Given the description of an element on the screen output the (x, y) to click on. 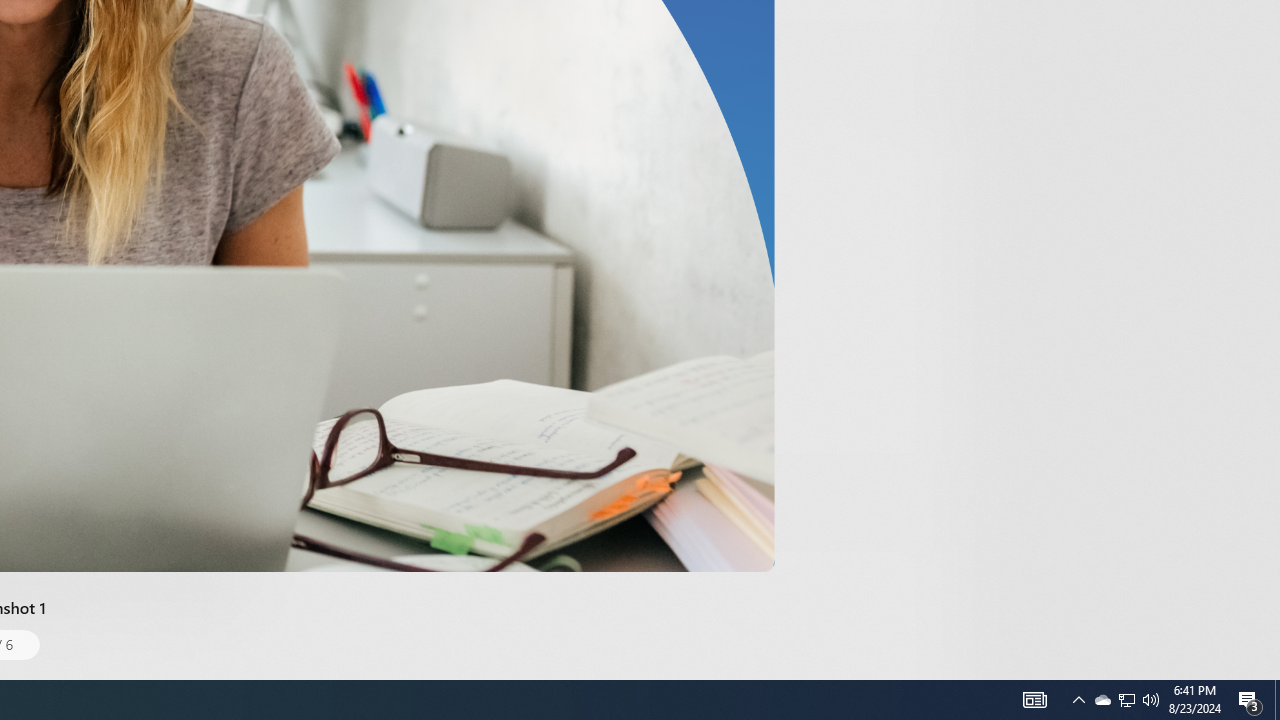
Show all ratings and reviews (924, 97)
